Given the description of an element on the screen output the (x, y) to click on. 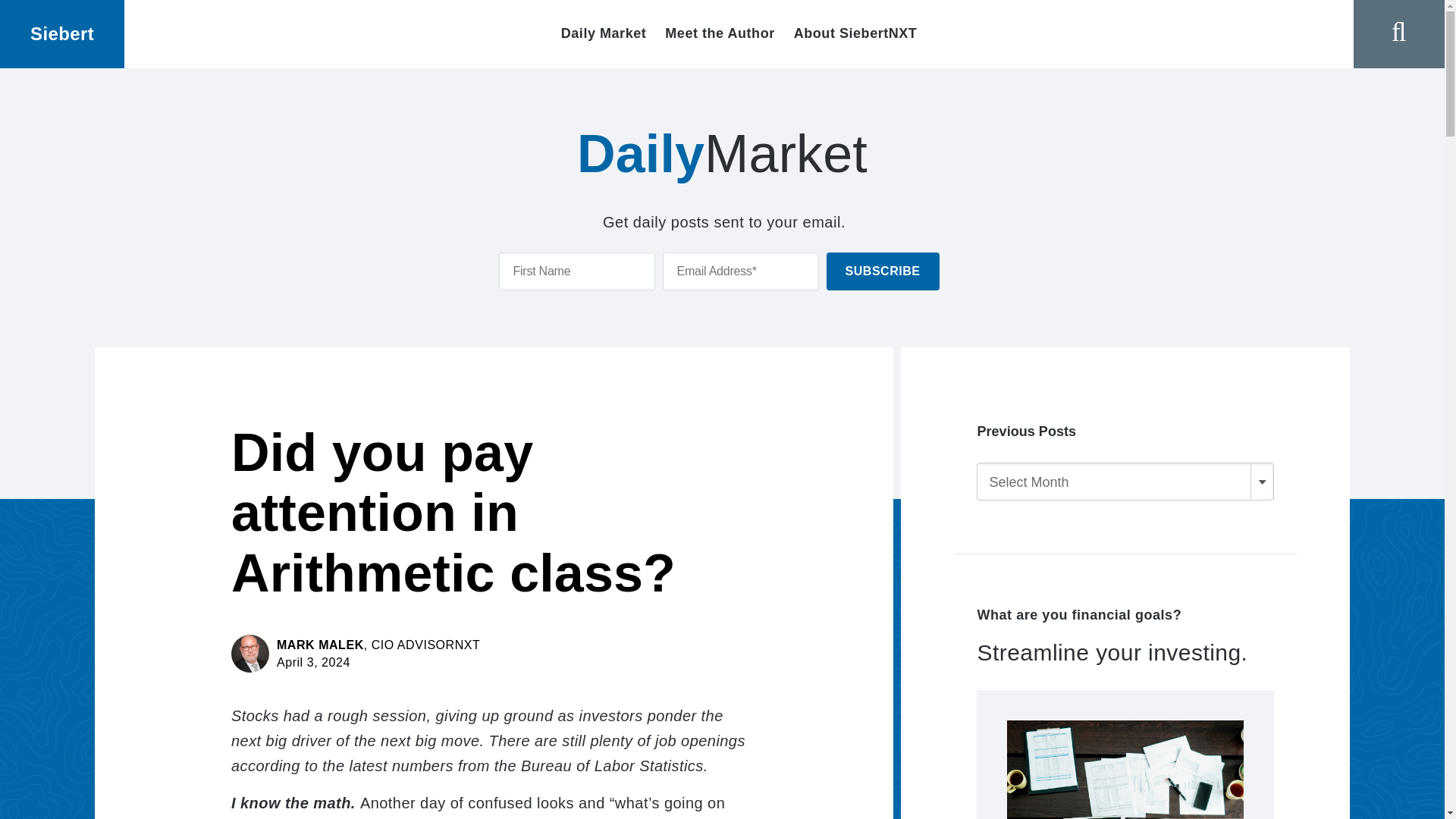
Daily Market (603, 33)
Meet the Author (719, 33)
Subscribe (883, 270)
DailyMarket (721, 153)
Subscribe (883, 270)
Siebert (62, 34)
About SiebertNXT (855, 33)
